Given the description of an element on the screen output the (x, y) to click on. 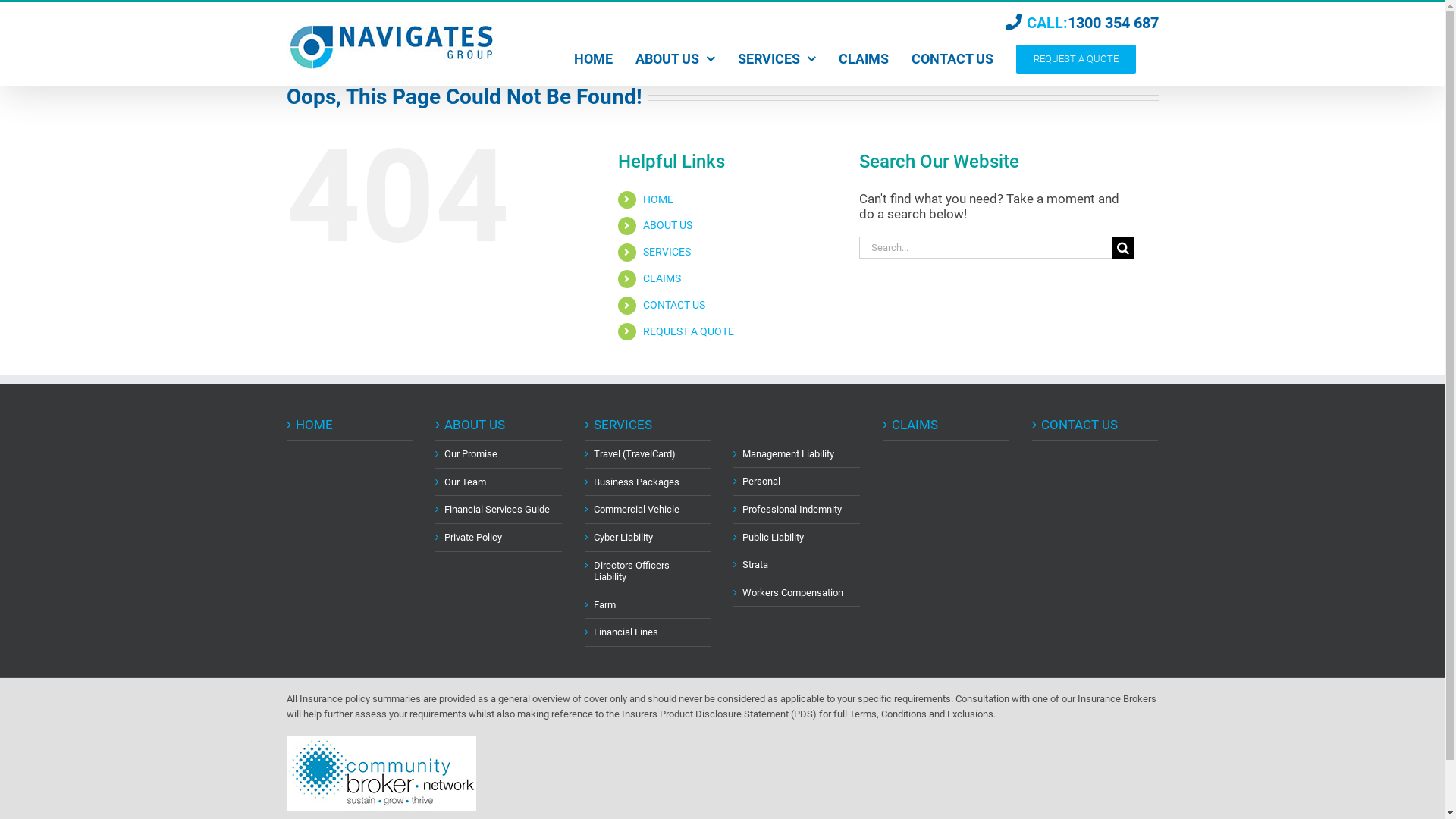
ABOUT US Element type: text (499, 424)
Private Policy Element type: text (499, 537)
Workers Compensation Element type: text (797, 592)
HOME Element type: text (592, 58)
1300 354 687 Element type: text (1112, 22)
Financial Services Guide Element type: text (499, 509)
Commercial Vehicle Element type: text (648, 509)
Business Packages Element type: text (648, 482)
Our Team Element type: text (499, 482)
CONTACT US Element type: text (952, 58)
Travel (TravelCard) Element type: text (648, 454)
REQUEST A QUOTE Element type: text (1075, 58)
CONTACT US Element type: text (674, 304)
CLAIMS Element type: text (863, 58)
Personal Element type: text (797, 481)
Farm Element type: text (648, 605)
SERVICES Element type: text (666, 251)
CLAIMS Element type: text (661, 278)
REQUEST A QUOTE Element type: text (688, 331)
ABOUT US Element type: text (667, 225)
HOME Element type: text (350, 424)
Cyber Liability Element type: text (648, 537)
Management Liability Element type: text (797, 454)
Directors Officers Liability Element type: text (648, 571)
Professional Indemnity Element type: text (797, 509)
CLAIMS Element type: text (946, 424)
HOME Element type: text (658, 199)
CONTACT US Element type: text (1096, 424)
ABOUT US Element type: text (675, 58)
Our Promise Element type: text (499, 454)
SERVICES Element type: text (648, 424)
Public Liability Element type: text (797, 537)
SERVICES Element type: text (776, 58)
Strata Element type: text (797, 564)
Financial Lines Element type: text (648, 632)
